Given the description of an element on the screen output the (x, y) to click on. 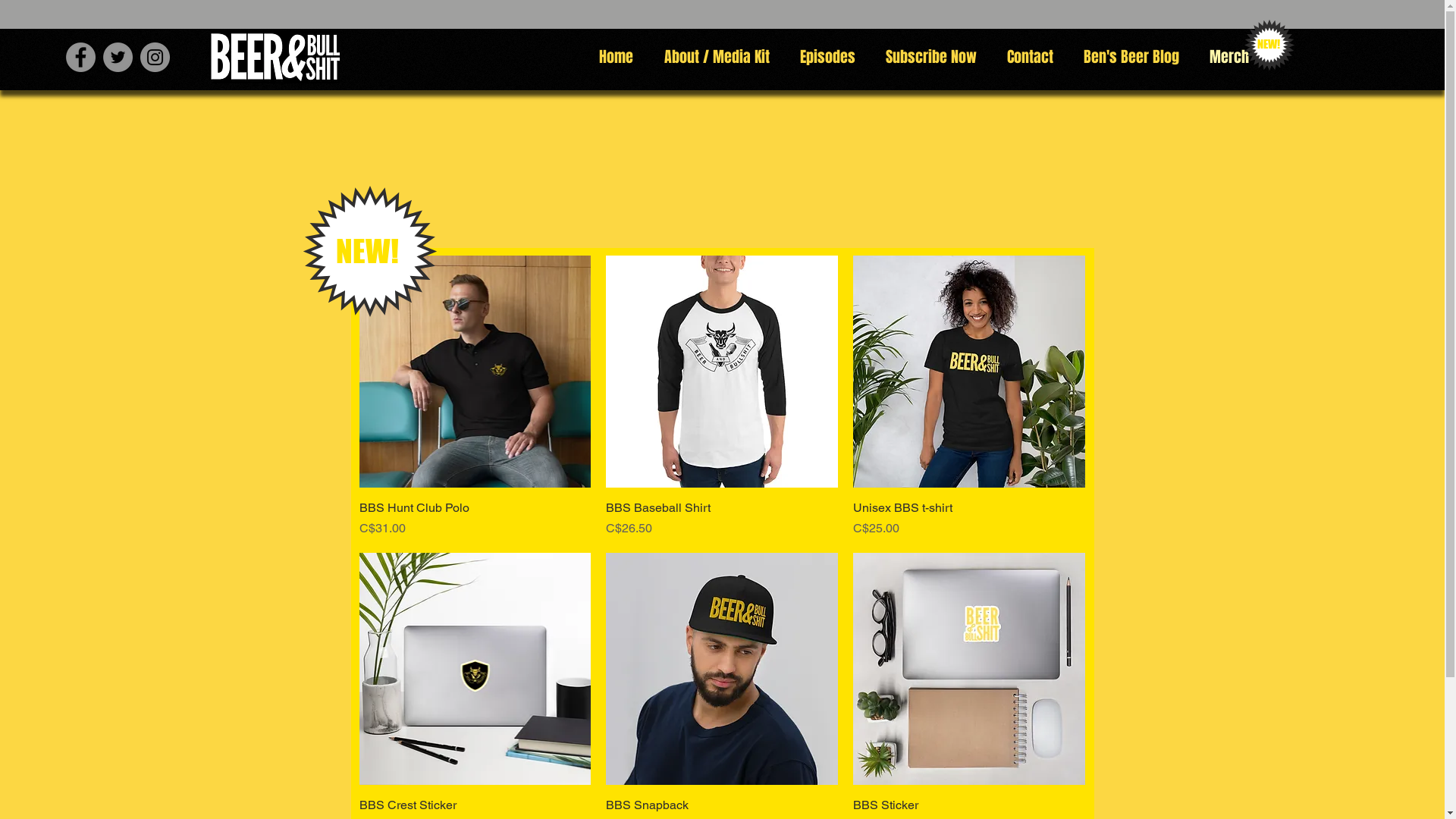
Merch Element type: text (1228, 56)
BBS Baseball Shirt
Price
C$26.50 Element type: text (721, 518)
Ben's Beer Blog Element type: text (1130, 56)
Unisex BBS t-shirt
Price
C$25.00 Element type: text (969, 518)
Subscribe Now Element type: text (930, 56)
Home Element type: text (616, 56)
BBS Hunt Club Polo
Price
C$31.00 Element type: text (475, 518)
About / Media Kit Element type: text (716, 56)
Episodes Element type: text (826, 56)
Contact Element type: text (1029, 56)
